Given the description of an element on the screen output the (x, y) to click on. 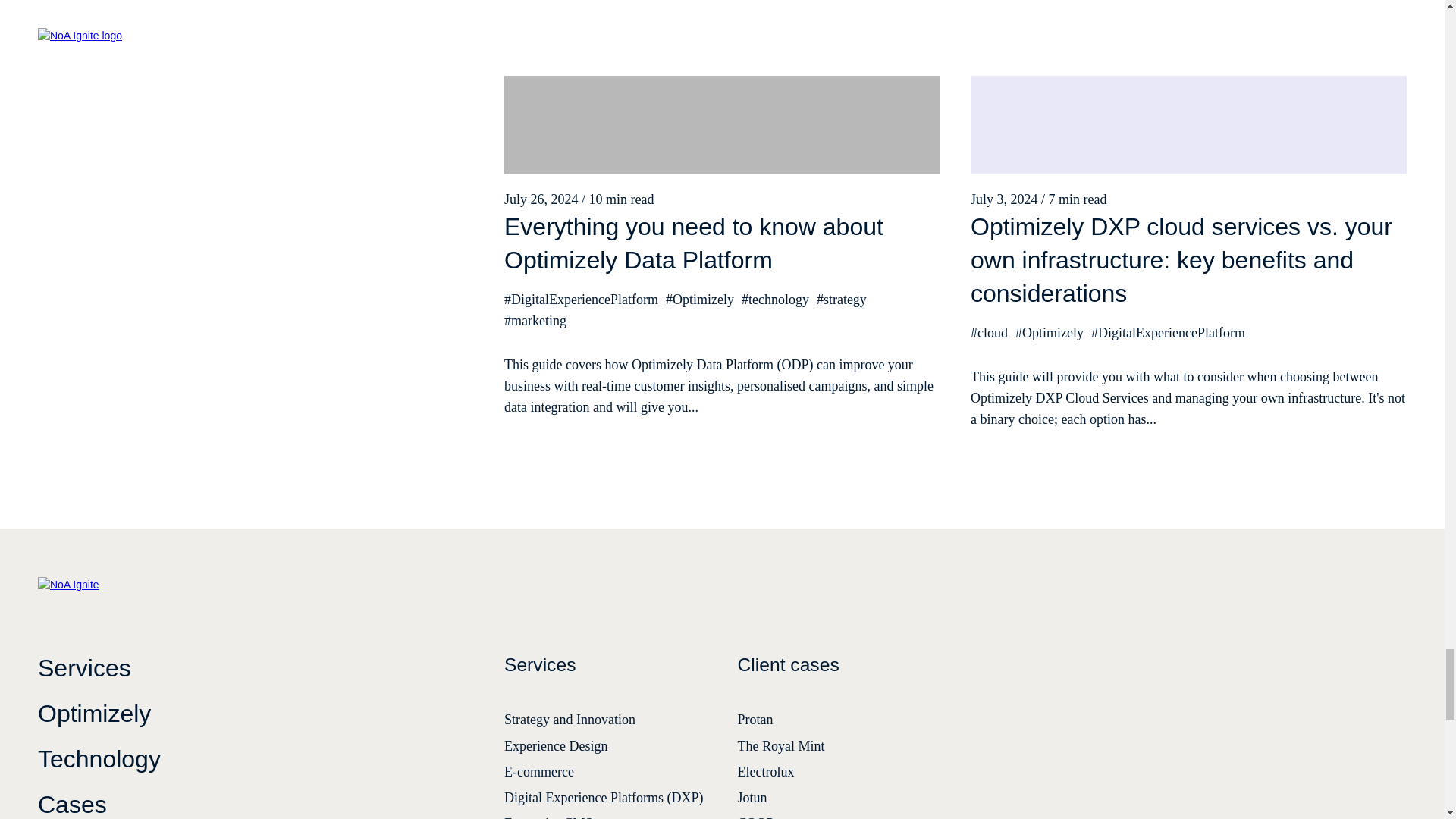
Technology (255, 758)
Optimizely (255, 713)
Noa Ignite Homepage (90, 590)
BACK TO ALL ARTICLES (135, 11)
Services (255, 667)
